Given the description of an element on the screen output the (x, y) to click on. 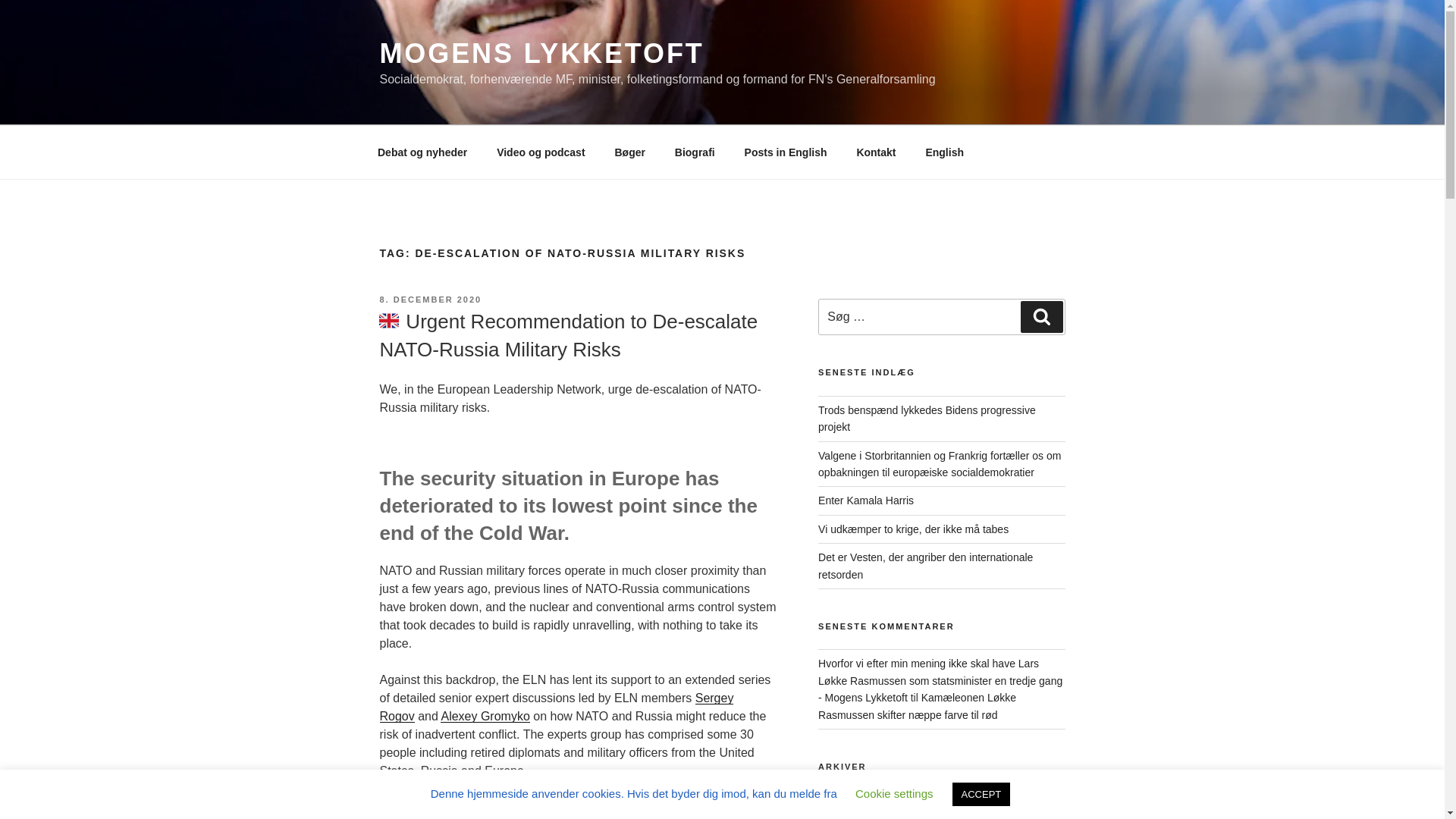
Enter Kamala Harris (866, 500)
Alexey Gromyko (485, 716)
Debat og nyheder (422, 151)
English (944, 151)
8. DECEMBER 2020 (429, 298)
Biografi (694, 151)
Video og podcast (540, 151)
Kontakt (875, 151)
juli 2024 (837, 803)
